Given the description of an element on the screen output the (x, y) to click on. 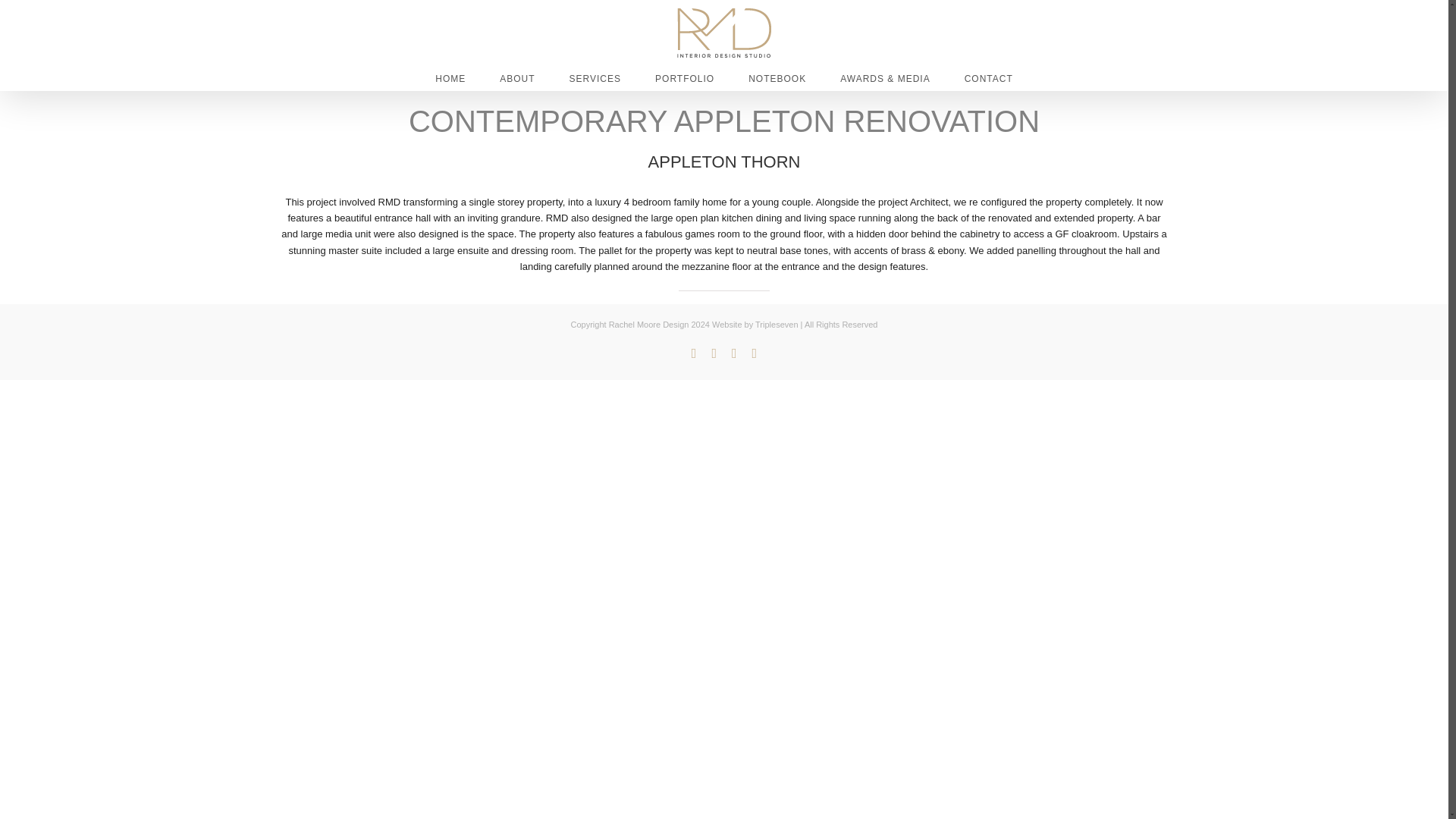
ABOUT (516, 78)
CONTACT (988, 78)
NOTEBOOK (777, 78)
SERVICES (595, 78)
Tripleseven (776, 324)
HOME (450, 78)
PORTFOLIO (684, 78)
